Given the description of an element on the screen output the (x, y) to click on. 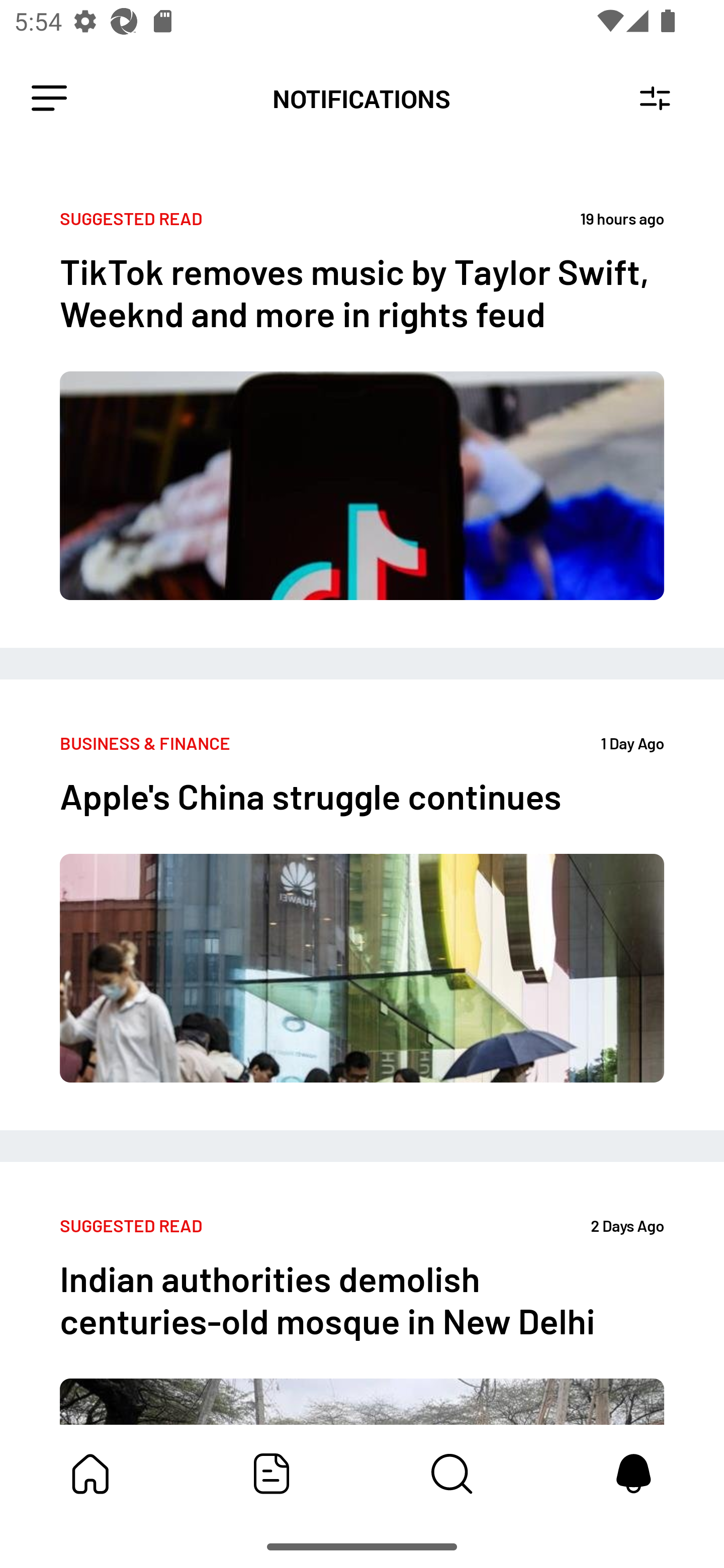
Leading Icon (49, 98)
Notification Settings (655, 98)
My Bundle (90, 1473)
Featured (271, 1473)
Content Store (452, 1473)
